Given the description of an element on the screen output the (x, y) to click on. 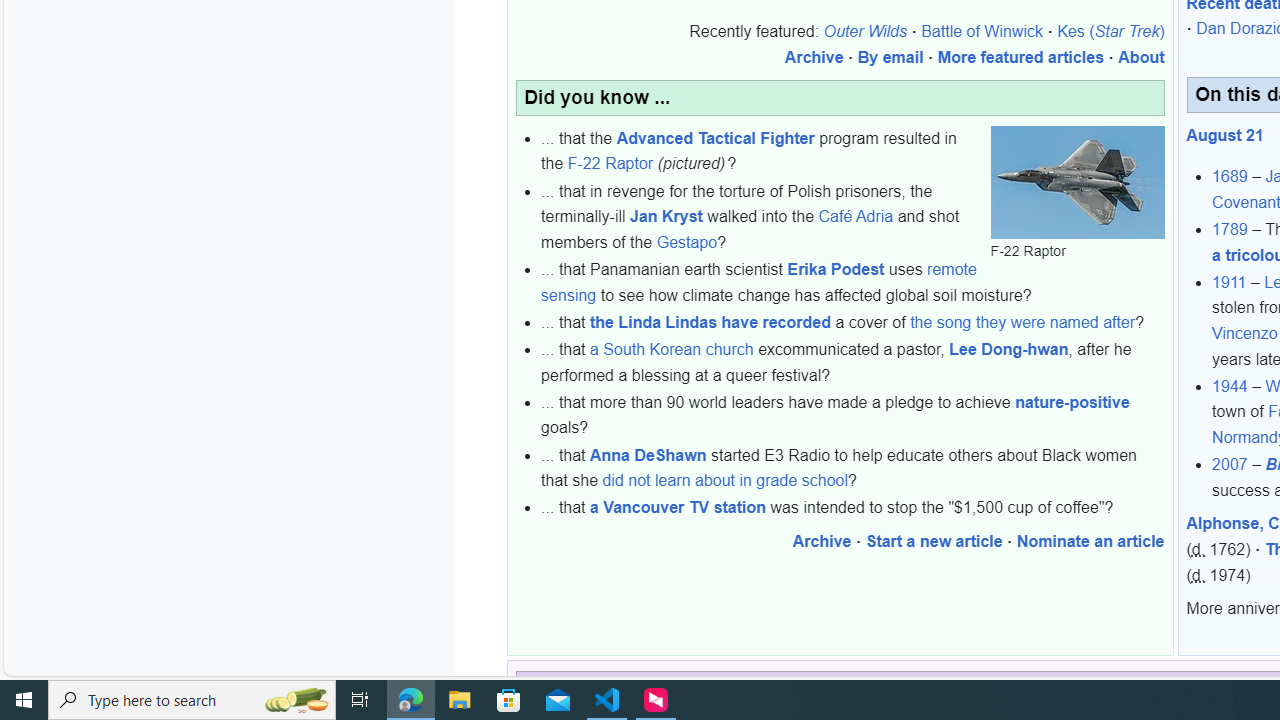
did not learn about in grade school (724, 481)
Nominate an article (1090, 541)
Outer Wilds (865, 32)
a South Korean church (671, 350)
Advanced Tactical Fighter (715, 137)
Gestapo (686, 242)
2007 (1230, 464)
F-22 Raptor (1076, 182)
About (1140, 57)
